Given the description of an element on the screen output the (x, y) to click on. 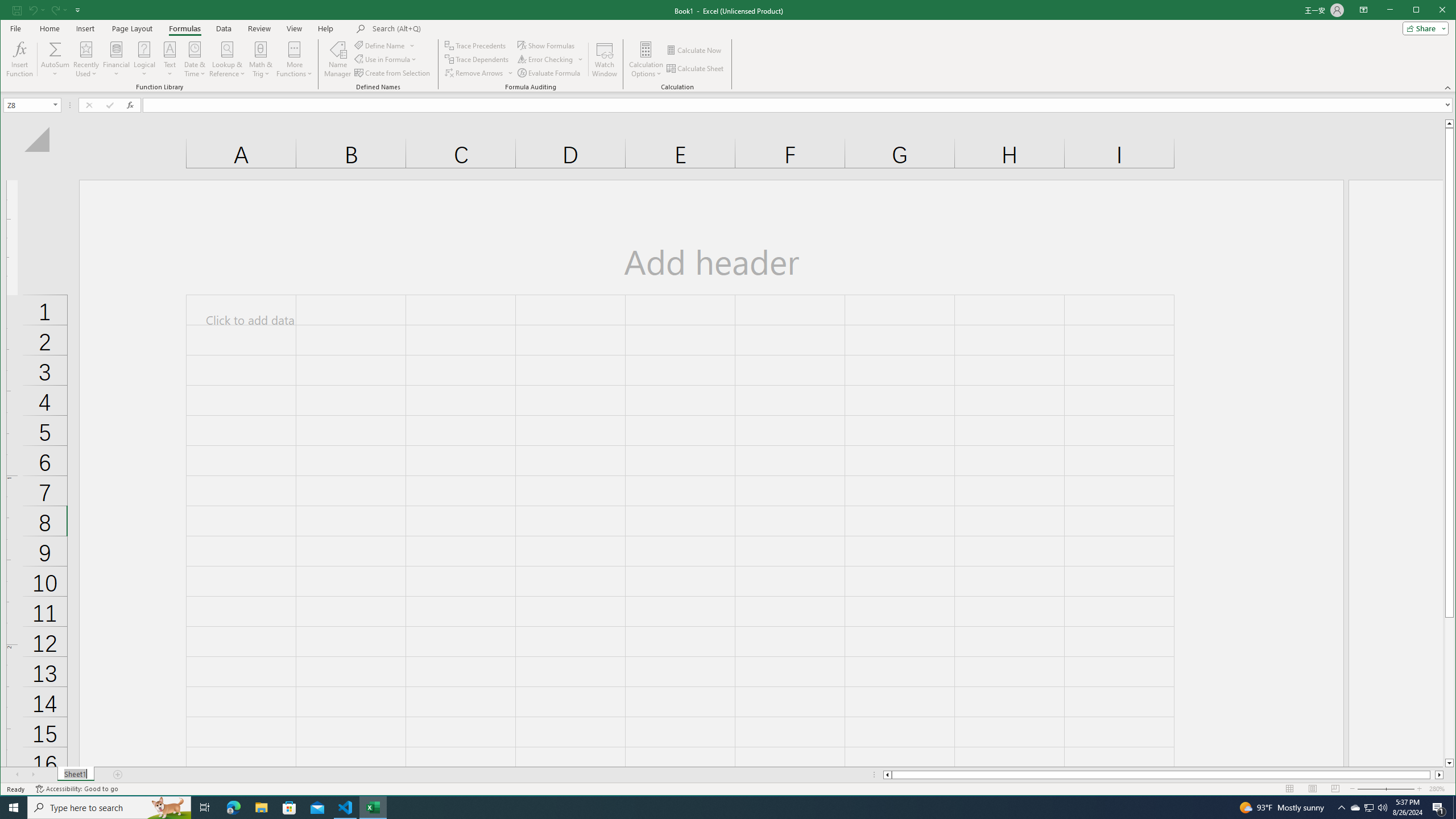
User Promoted Notification Area (1368, 807)
Text (170, 59)
Math & Trig (260, 59)
Define Name (384, 45)
Remove Arrows (478, 72)
Date & Time (194, 59)
Error Checking... (550, 59)
